Given the description of an element on the screen output the (x, y) to click on. 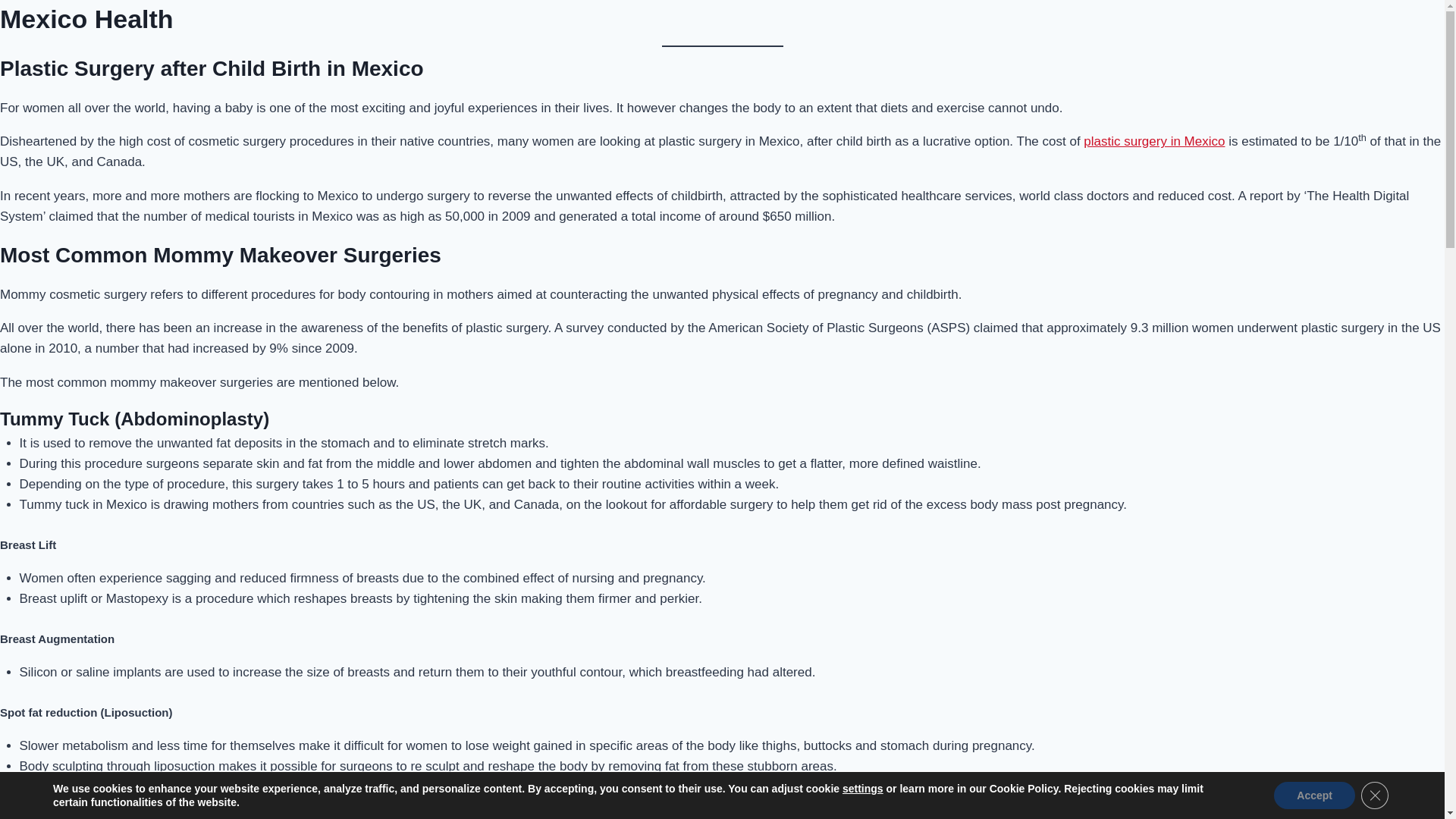
Accept (1314, 795)
Close GDPR Cookie Banner (1375, 795)
Plastic Surgery in Mexico (1153, 141)
Mexico Health (86, 18)
plastic surgery in Mexico (1153, 141)
